Given the description of an element on the screen output the (x, y) to click on. 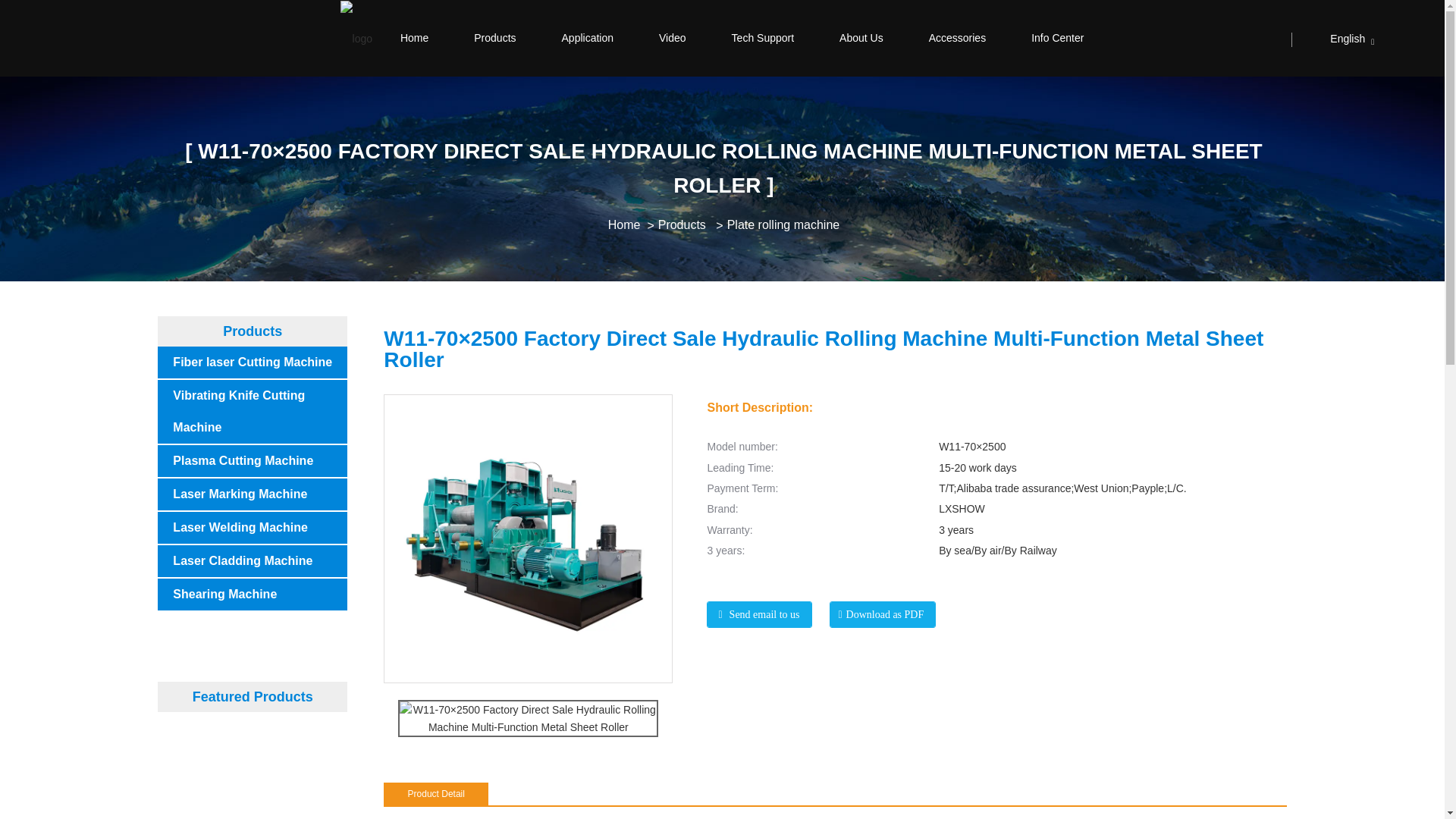
Home (414, 38)
Plate rolling machine (783, 224)
Products (682, 224)
Products (494, 38)
